Given the description of an element on the screen output the (x, y) to click on. 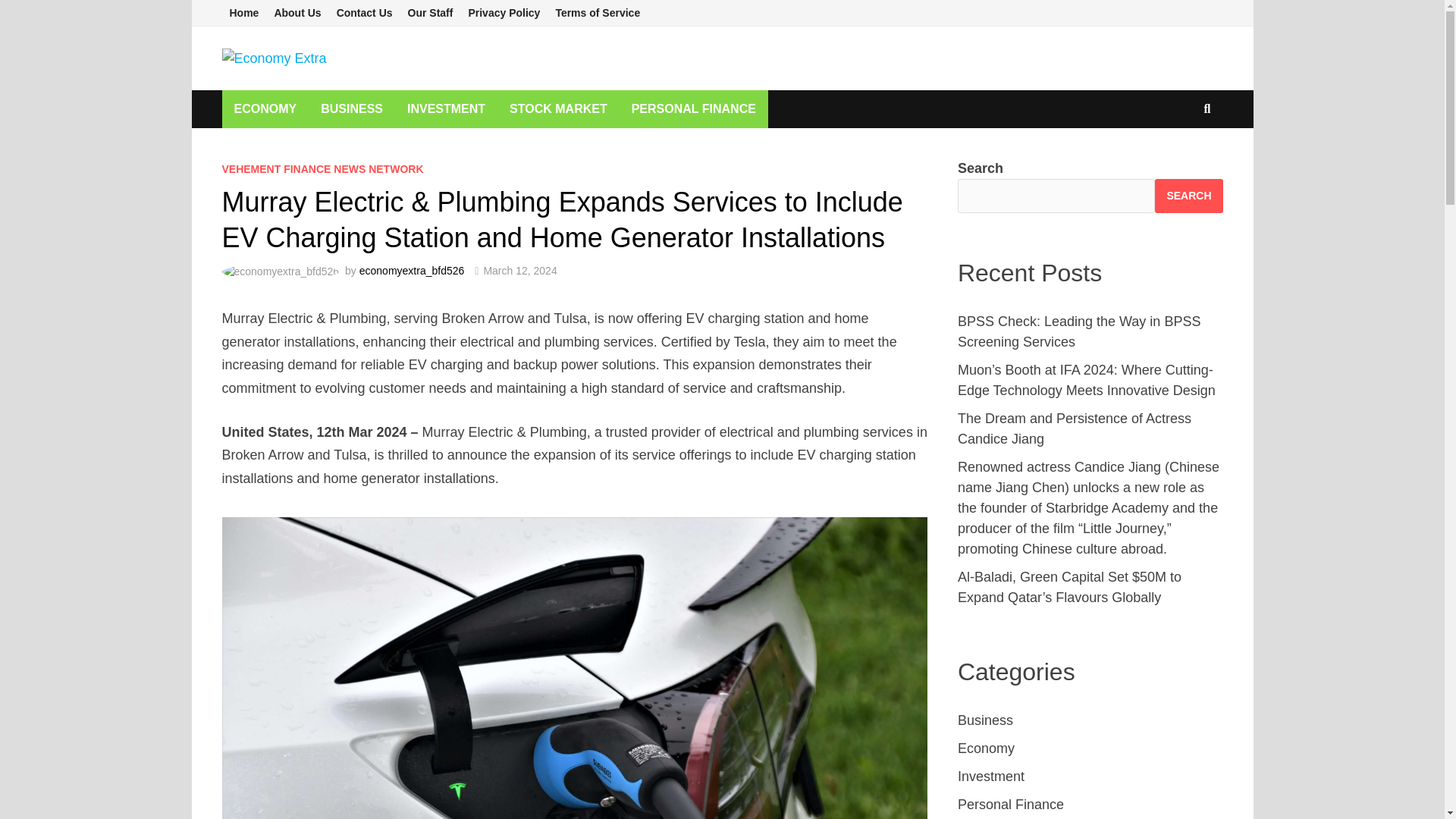
PERSONAL FINANCE (694, 108)
INVESTMENT (445, 108)
About Us (297, 13)
March 12, 2024 (519, 270)
Privacy Policy (503, 13)
STOCK MARKET (558, 108)
Terms of Service (597, 13)
BUSINESS (351, 108)
VEHEMENT FINANCE NEWS NETWORK (322, 168)
ECONOMY (264, 108)
Contact Us (364, 13)
Home (243, 13)
Our Staff (430, 13)
